Given the description of an element on the screen output the (x, y) to click on. 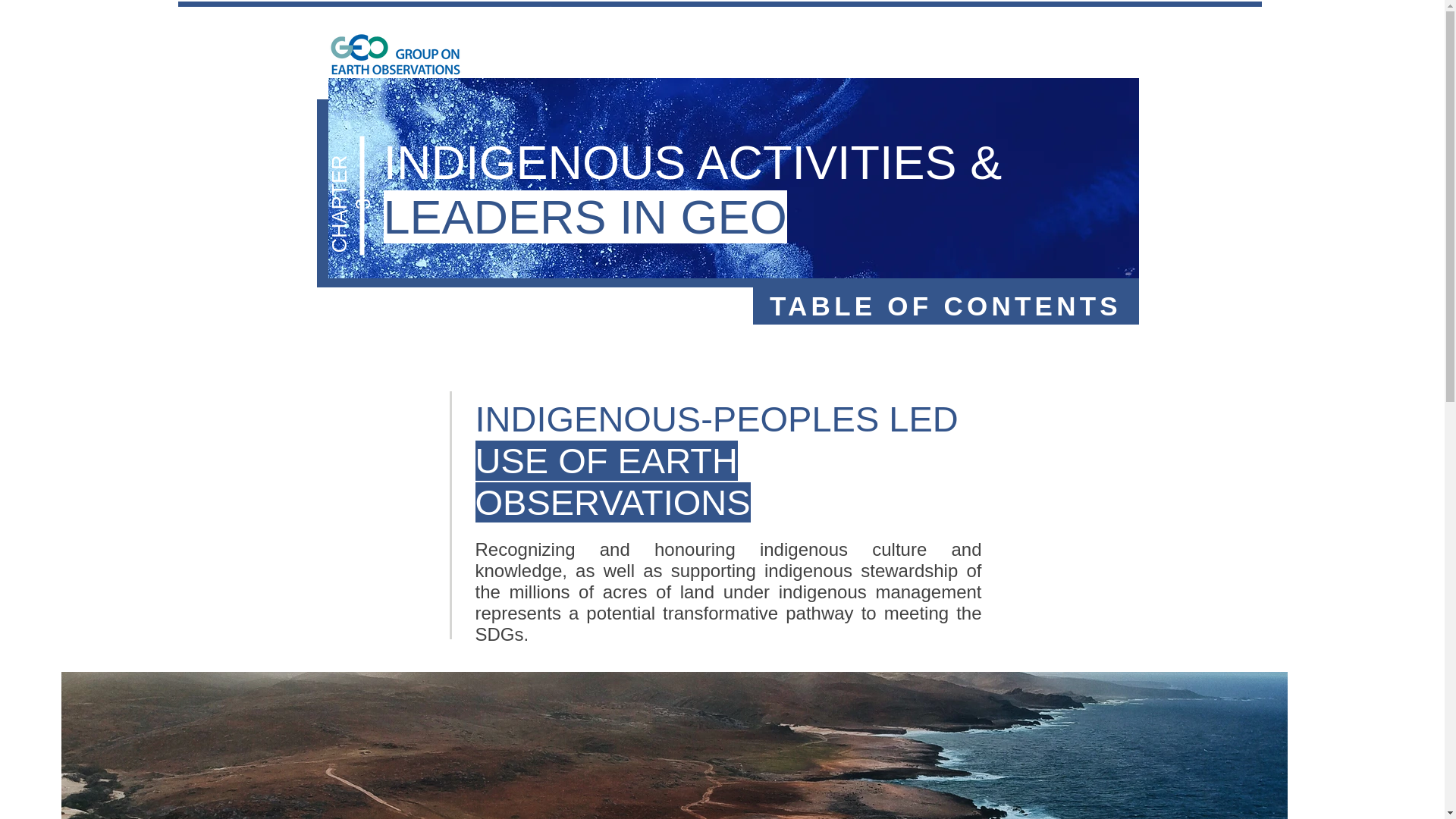
INDIGENOUS-PEOPLES LED  (721, 418)
CHAPTER 3 (592, 16)
CHAPTER 3 (376, 177)
TABLE OF CONTENTS (945, 305)
